Given the description of an element on the screen output the (x, y) to click on. 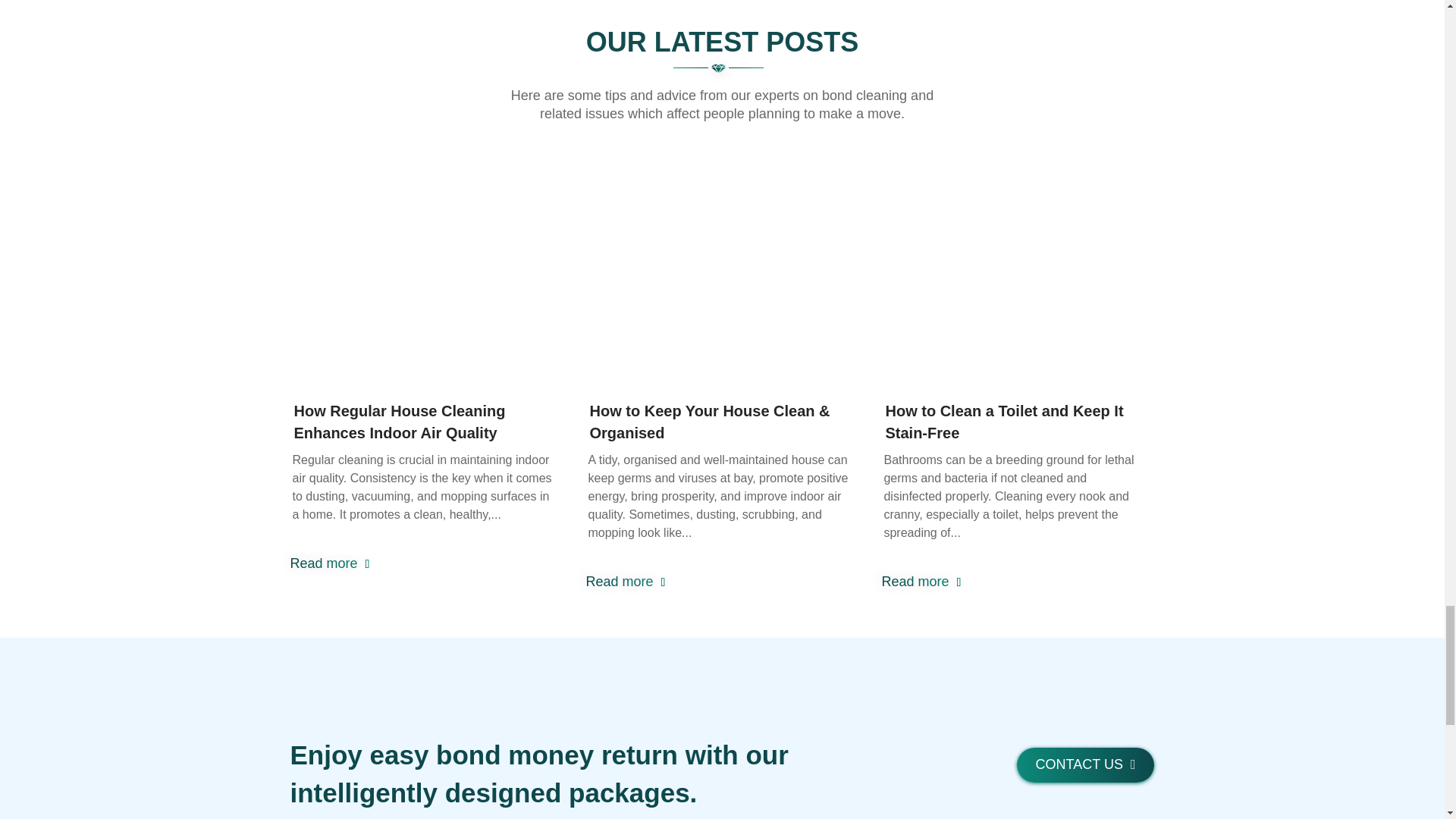
Read more (625, 582)
Read more (329, 564)
Read more (920, 582)
CONTACT US (1085, 764)
